Given the description of an element on the screen output the (x, y) to click on. 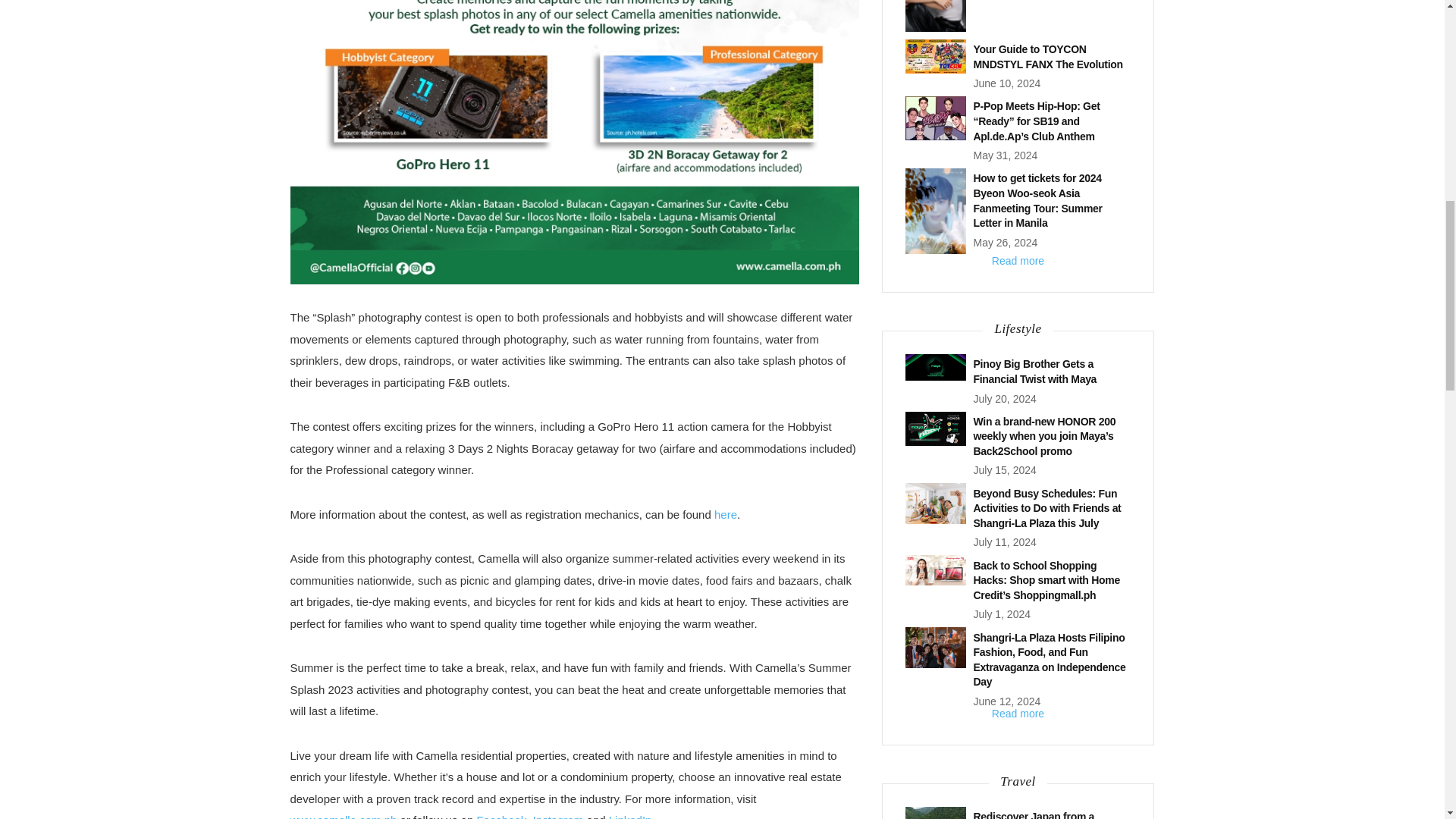
here (725, 513)
Instagram (557, 816)
LinkedIn (630, 816)
www.camella.com.ph (342, 816)
Facebook (500, 816)
Your Guide to TOYCON MNDSTYL FANX The Evolution (1048, 56)
